Given the description of an element on the screen output the (x, y) to click on. 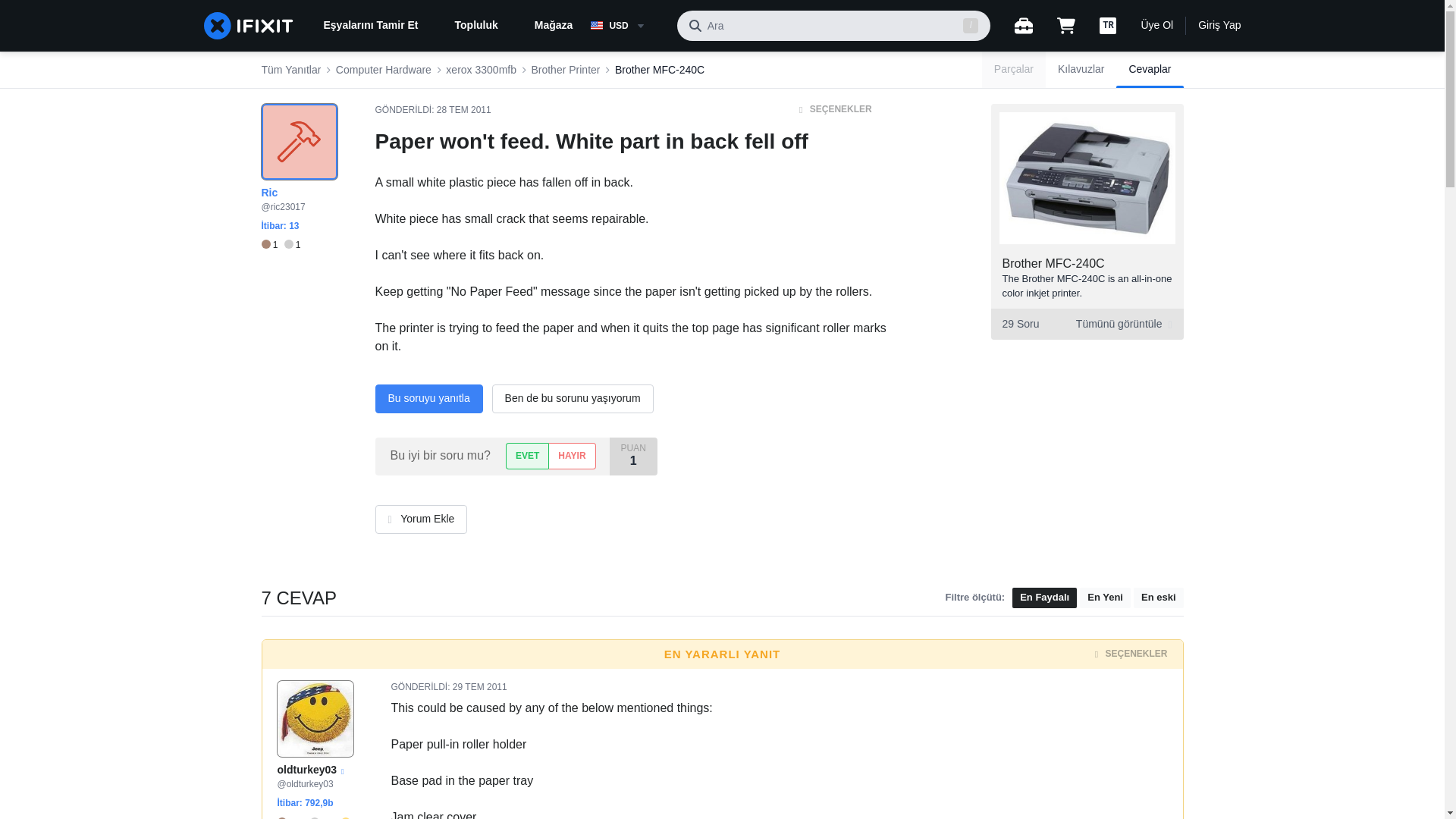
Computer Hardware (383, 69)
xerox 3300mfb (480, 69)
Brother MFC-240C (659, 69)
1 Bronz rozeti (271, 245)
1162 Bronz rozeti (294, 817)
Brother MFC-240C (1054, 263)
Cevaplar (1149, 69)
USD (627, 25)
Thu, 28 Jul 2011 10:44:06 -0700 (464, 109)
Brother Printer (565, 69)
